Given the description of an element on the screen output the (x, y) to click on. 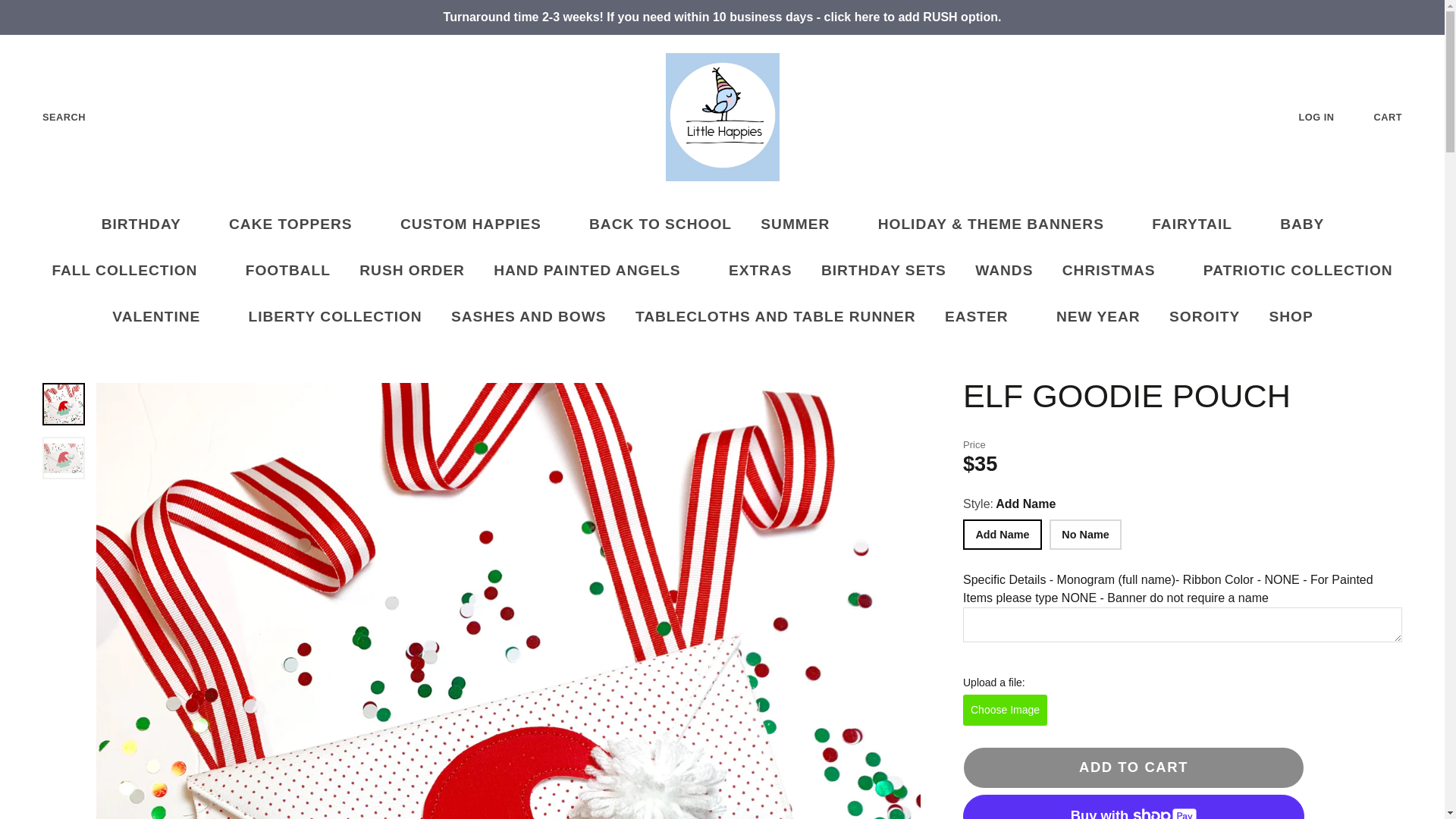
CUSTOM HAPPIES (480, 224)
SEARCH (51, 117)
BACK TO SCHOOL (660, 224)
CART (1399, 117)
SUMMER (804, 224)
BIRTHDAY (149, 224)
CAKE TOPPERS (299, 224)
LOG IN (1328, 117)
